Given the description of an element on the screen output the (x, y) to click on. 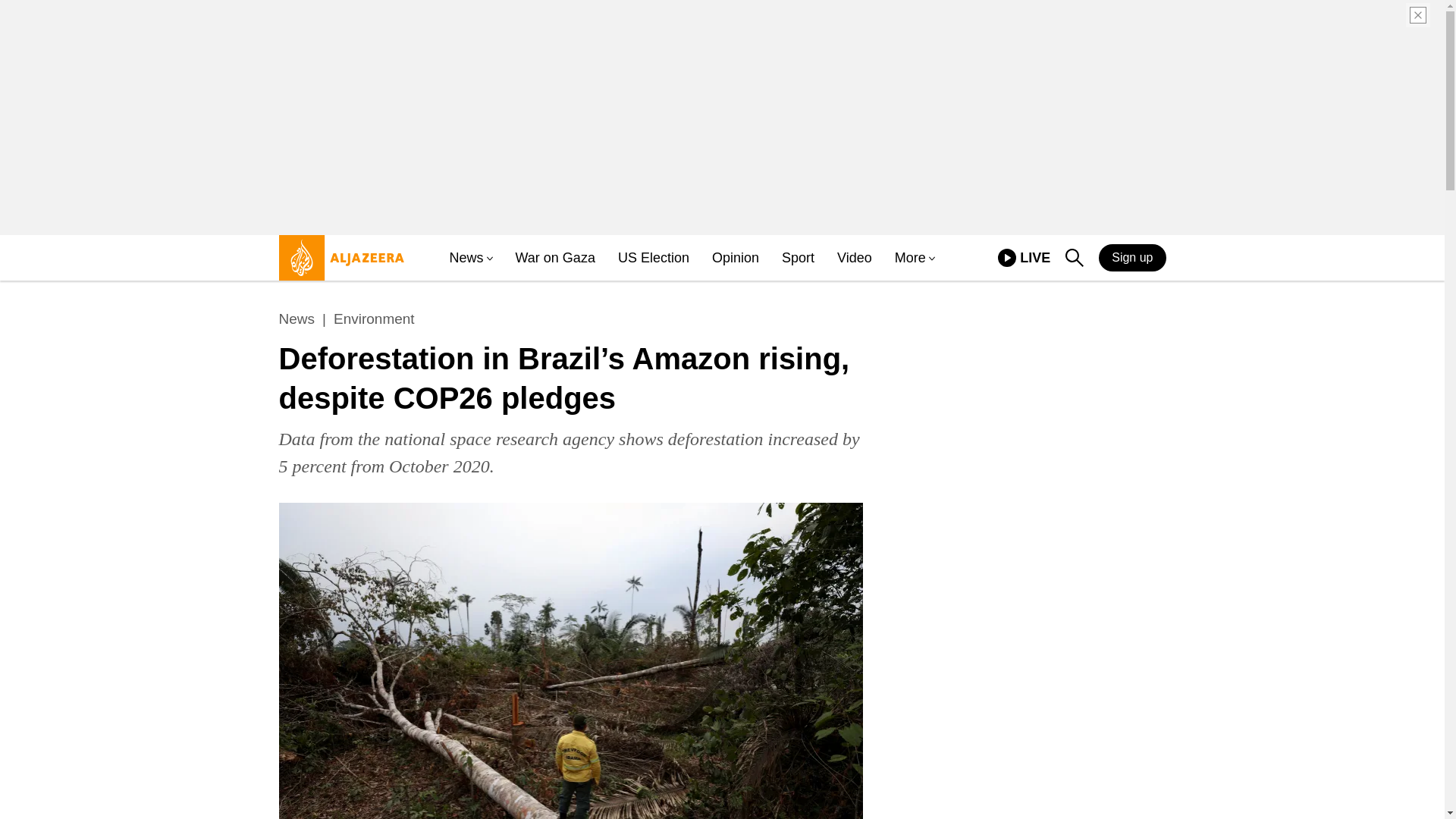
War on Gaza (555, 257)
Sport (797, 257)
Environment (373, 319)
Skip to Content (337, 264)
More (910, 257)
Opinion (734, 257)
search (1074, 257)
Sign up (1132, 257)
News (1023, 257)
Video (465, 257)
US Election (854, 257)
News (652, 257)
play (297, 319)
